Given the description of an element on the screen output the (x, y) to click on. 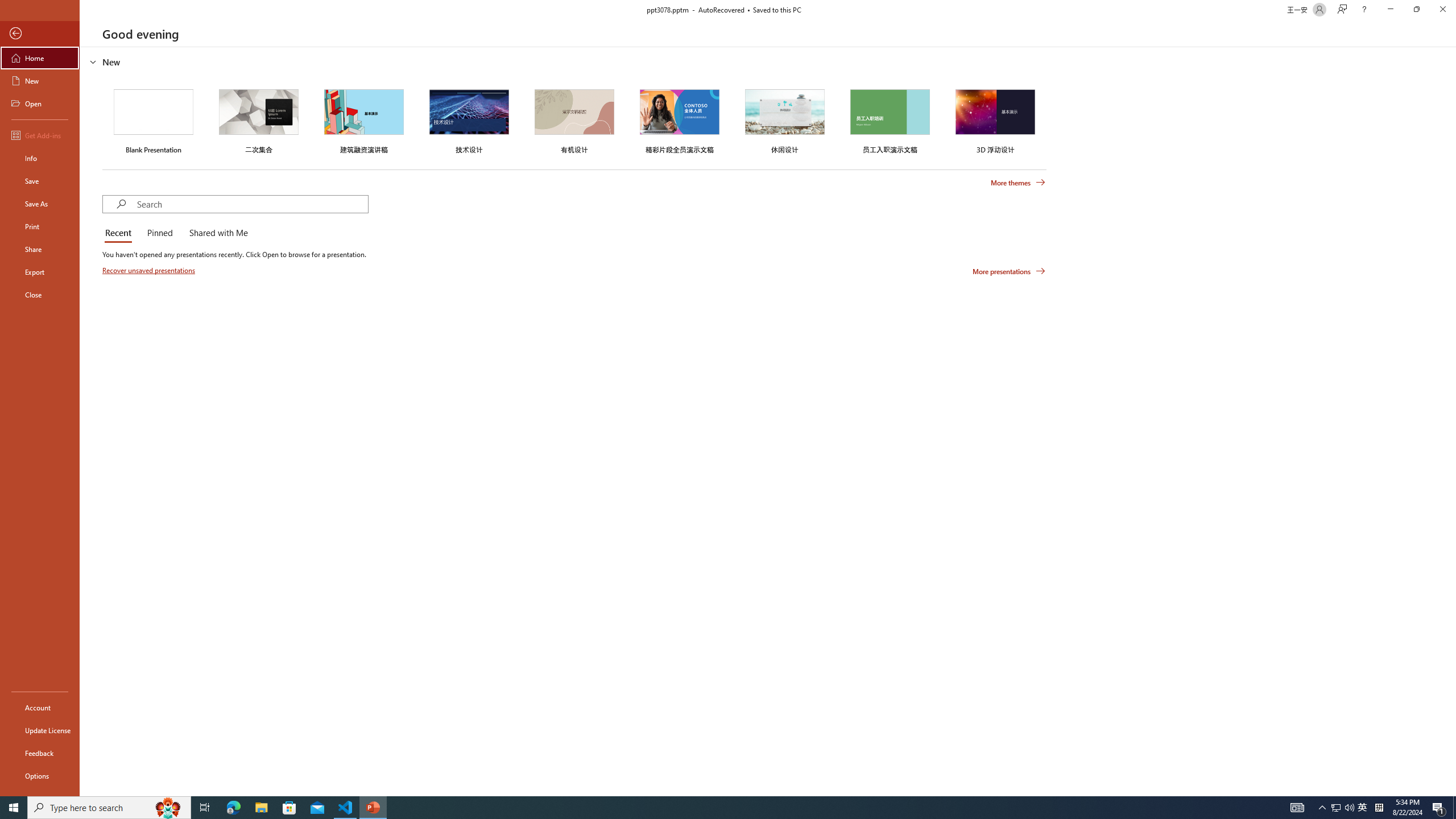
Recover unsaved presentations (149, 270)
Save As (40, 203)
Update License (40, 730)
More presentations (1008, 270)
Recent (119, 233)
Shared with Me (215, 233)
Options (40, 775)
